Given the description of an element on the screen output the (x, y) to click on. 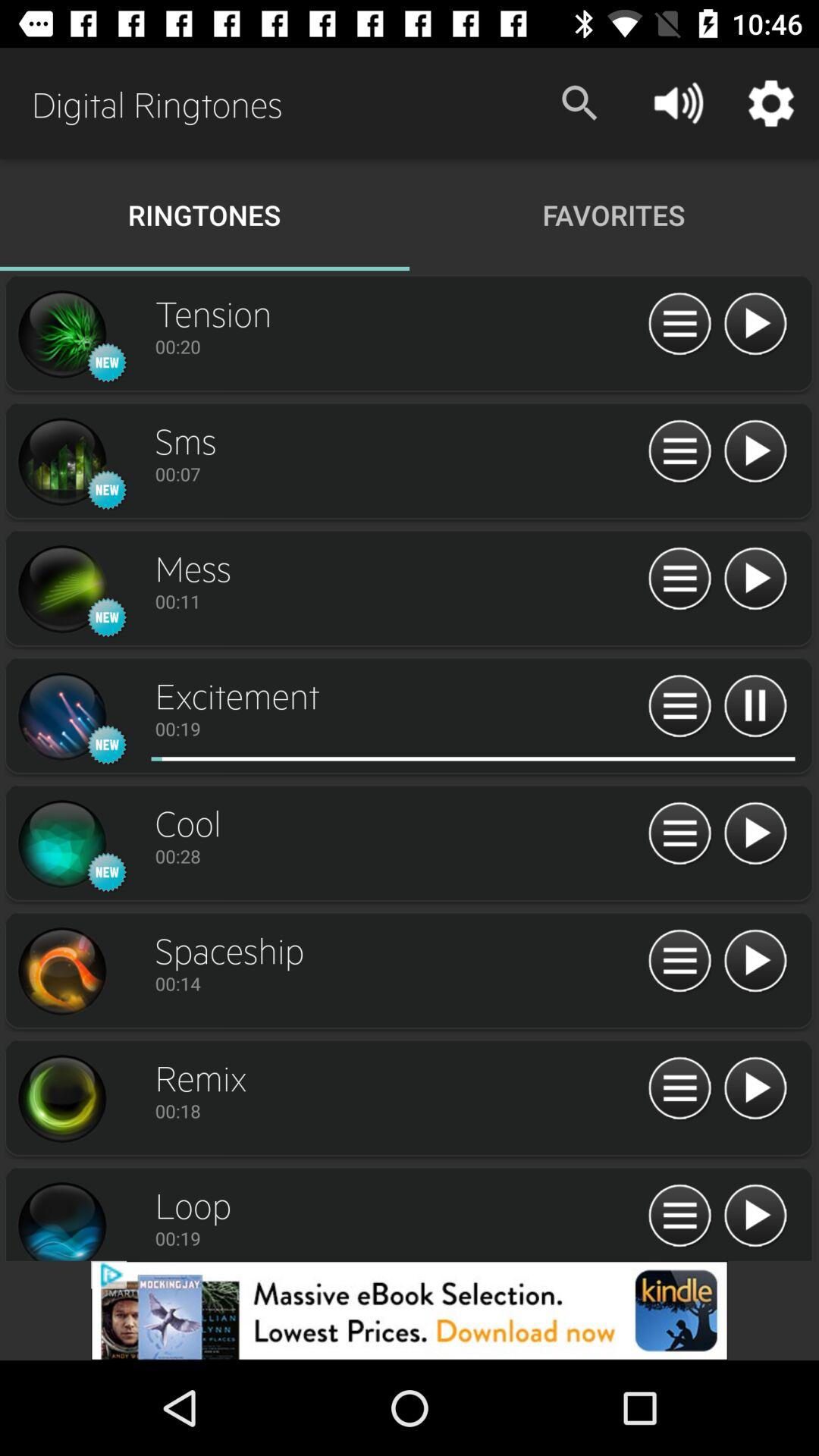
ringtone option button (679, 324)
